Given the description of an element on the screen output the (x, y) to click on. 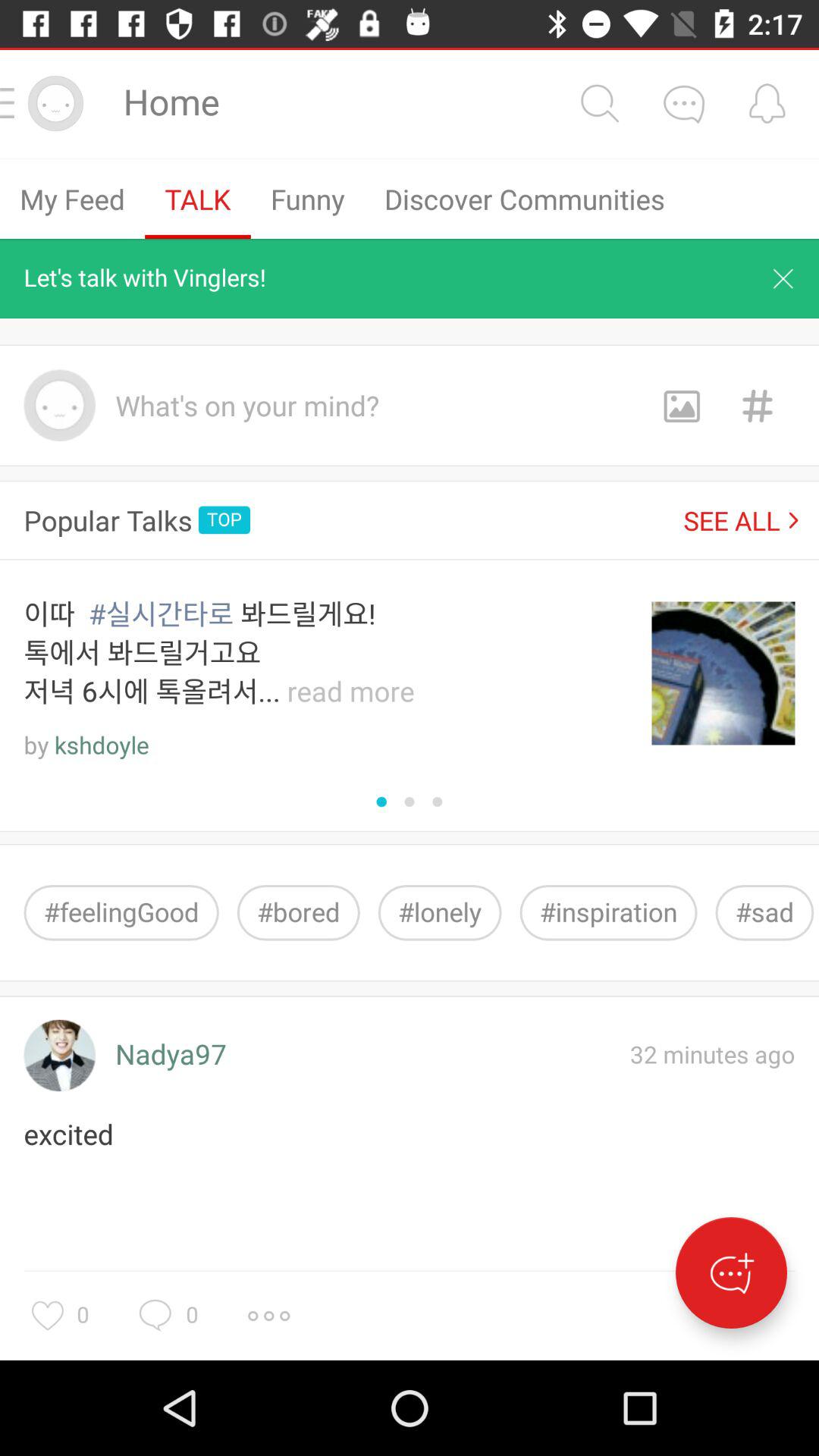
search here (599, 103)
